Given the description of an element on the screen output the (x, y) to click on. 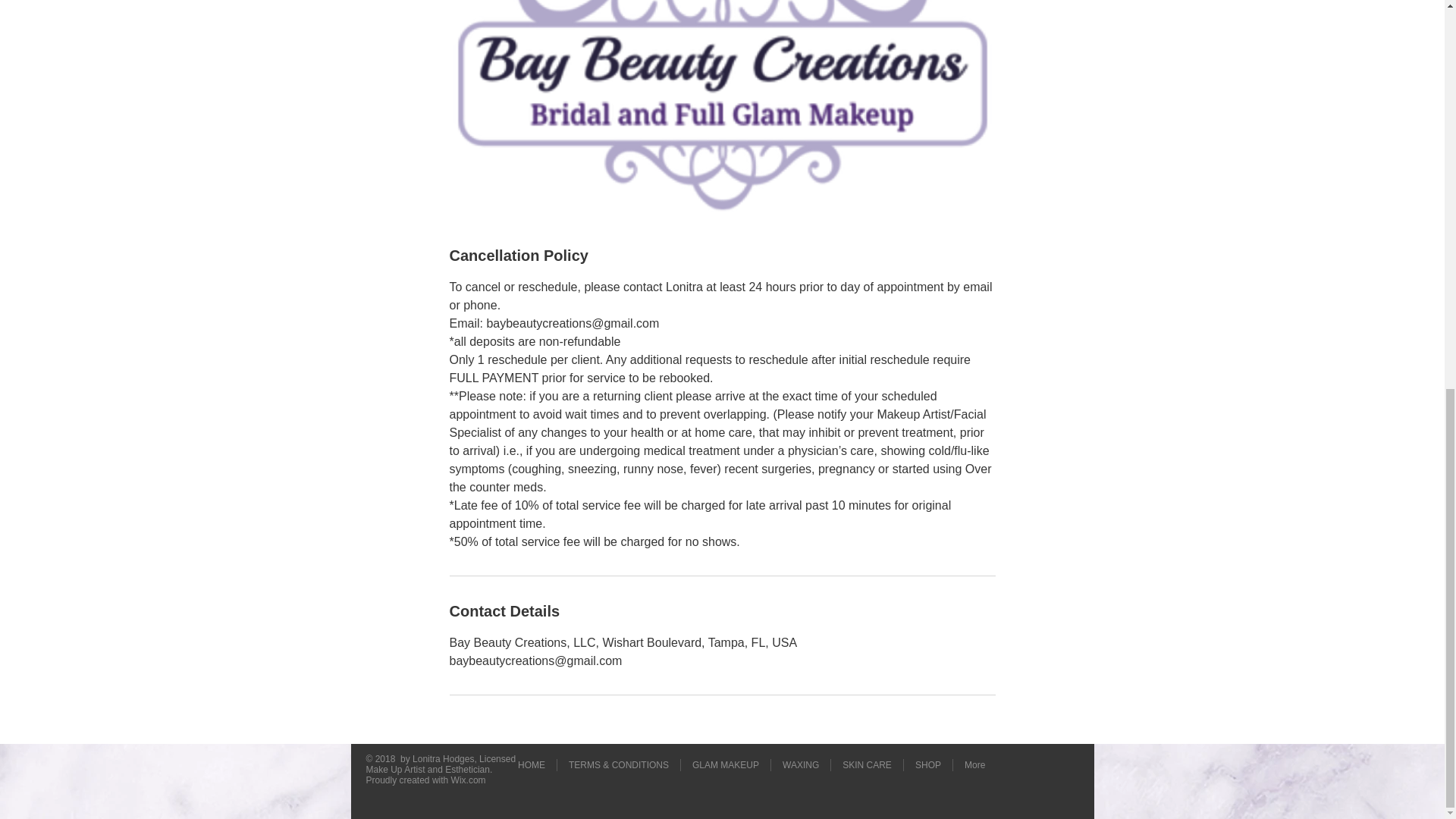
HOME (531, 765)
SKIN CARE (866, 765)
SHOP (928, 765)
WAXING (800, 765)
GLAM MAKEUP (725, 765)
Wix.com (468, 779)
